Given the description of an element on the screen output the (x, y) to click on. 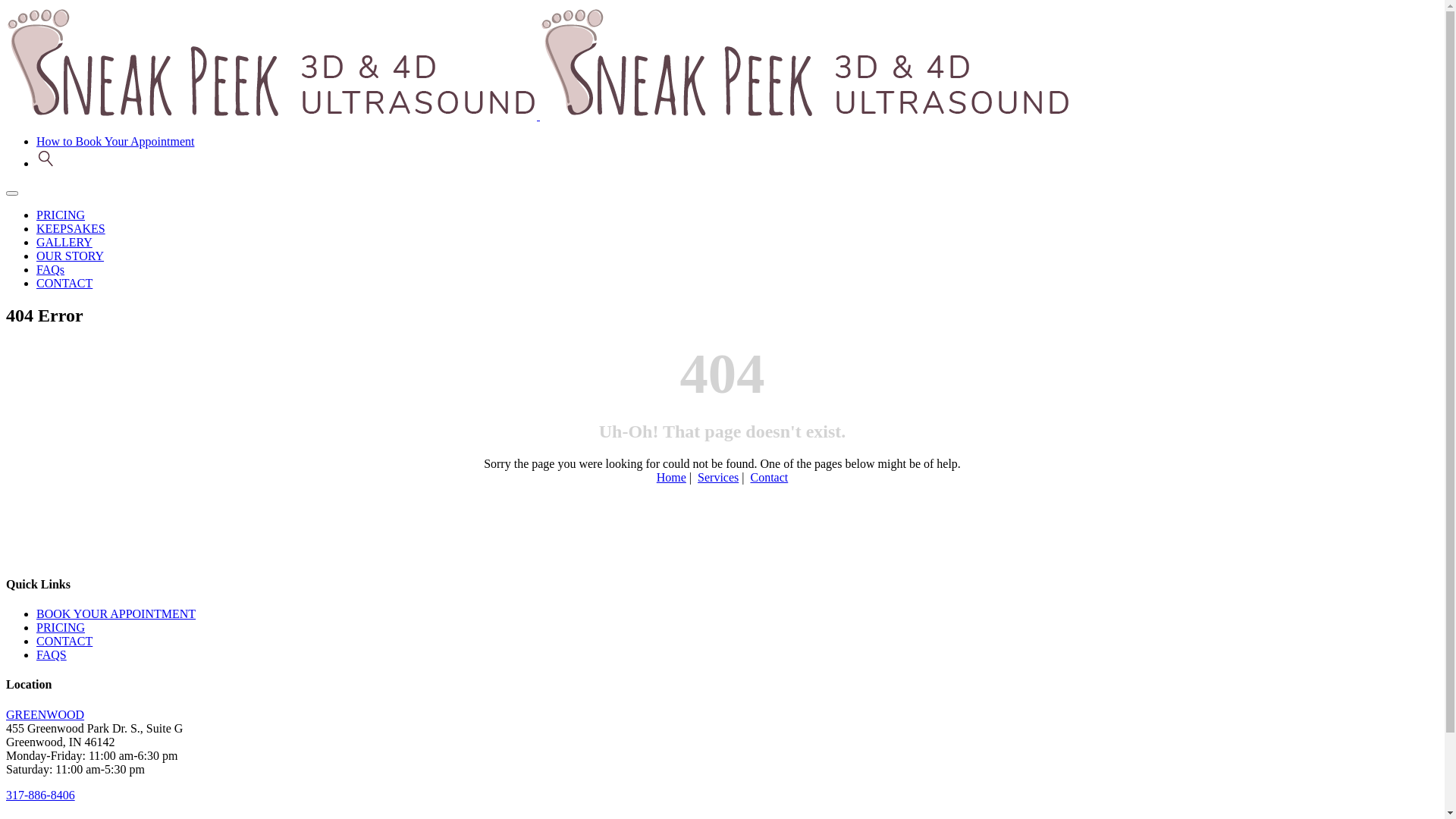
FAQS Element type: text (51, 654)
CONTACT Element type: text (64, 282)
Services Element type: text (717, 476)
CONTACT Element type: text (64, 640)
How to Book Your Appointment Element type: text (115, 140)
Sneak Peek 3D/4D Ultrasounds Element type: hover (538, 115)
OUR STORY Element type: text (69, 255)
FAQs Element type: text (50, 269)
317-886-8406 Element type: text (40, 794)
GREENWOOD Element type: text (45, 714)
GALLERY Element type: text (64, 241)
BOOK YOUR APPOINTMENT Element type: text (115, 613)
Home Element type: text (671, 476)
PRICING Element type: text (60, 627)
PRICING Element type: text (60, 214)
KEEPSAKES Element type: text (70, 228)
Contact Element type: text (768, 476)
